Given the description of an element on the screen output the (x, y) to click on. 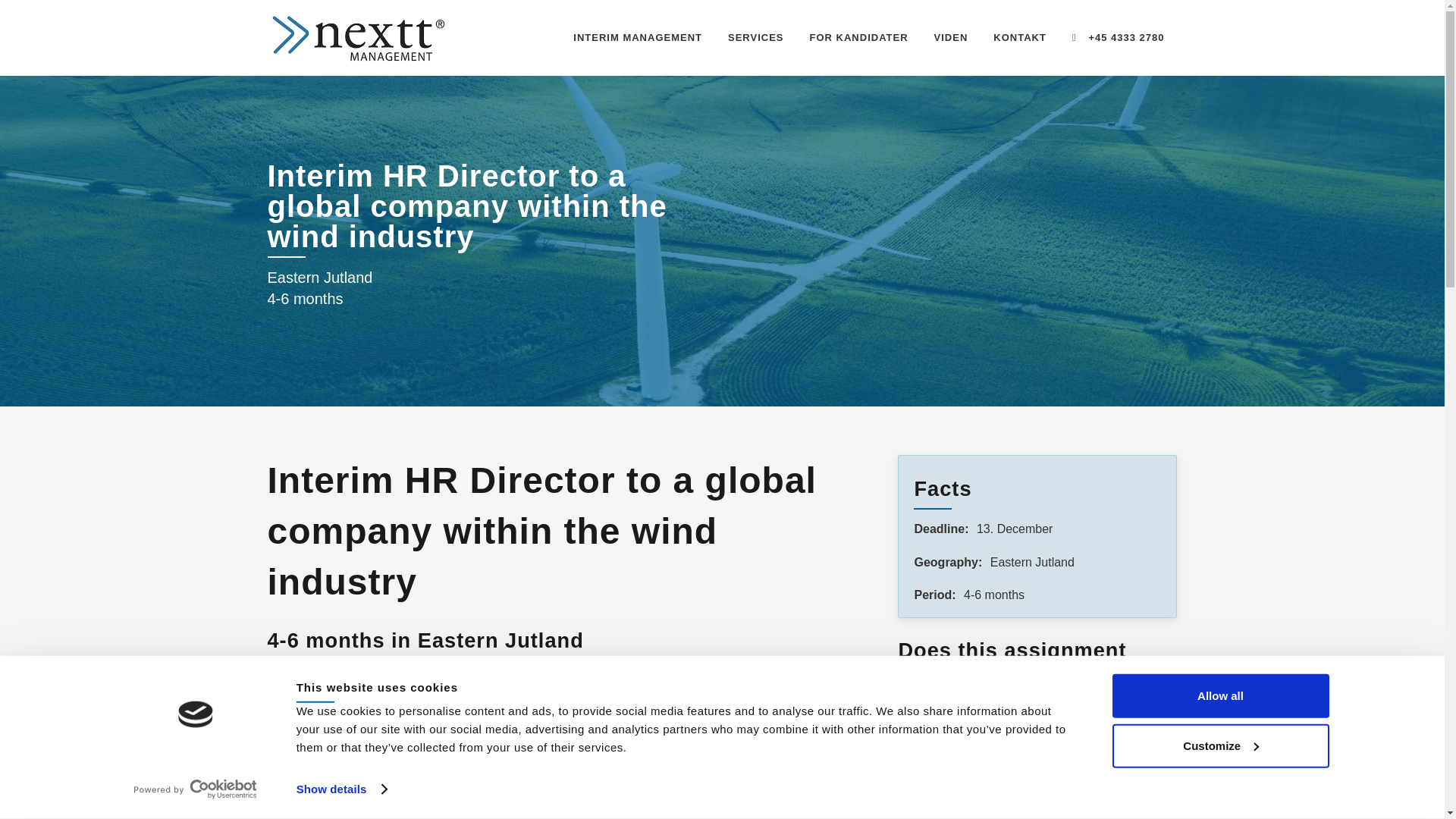
Show details (341, 789)
